Given the description of an element on the screen output the (x, y) to click on. 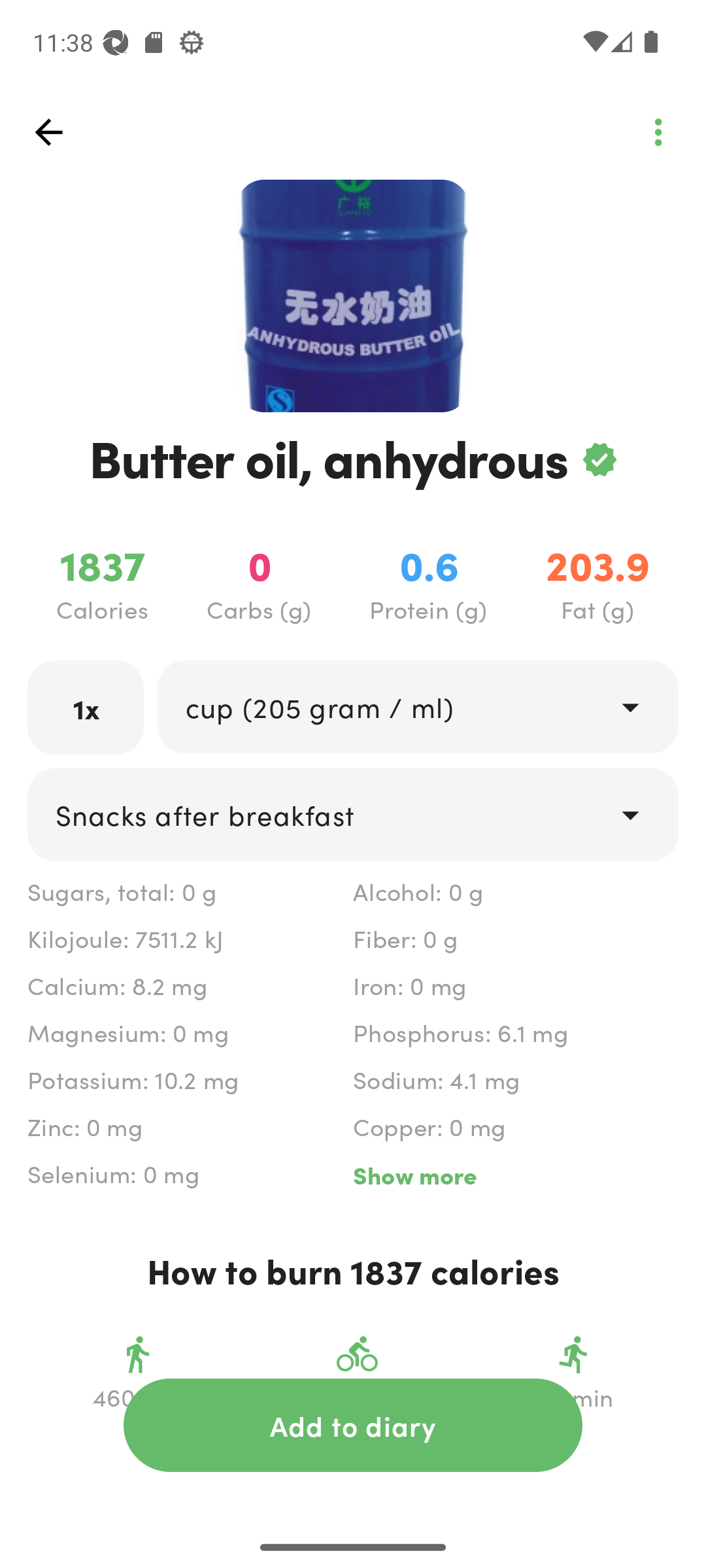
top_left_action (48, 132)
top_left_action (658, 132)
1x labeled_edit_text (85, 707)
drop_down cup (205 gram / ml) (417, 706)
drop_down Snacks after breakfast (352, 814)
Show more (515, 1174)
action_button Add to diary (352, 1425)
